Given the description of an element on the screen output the (x, y) to click on. 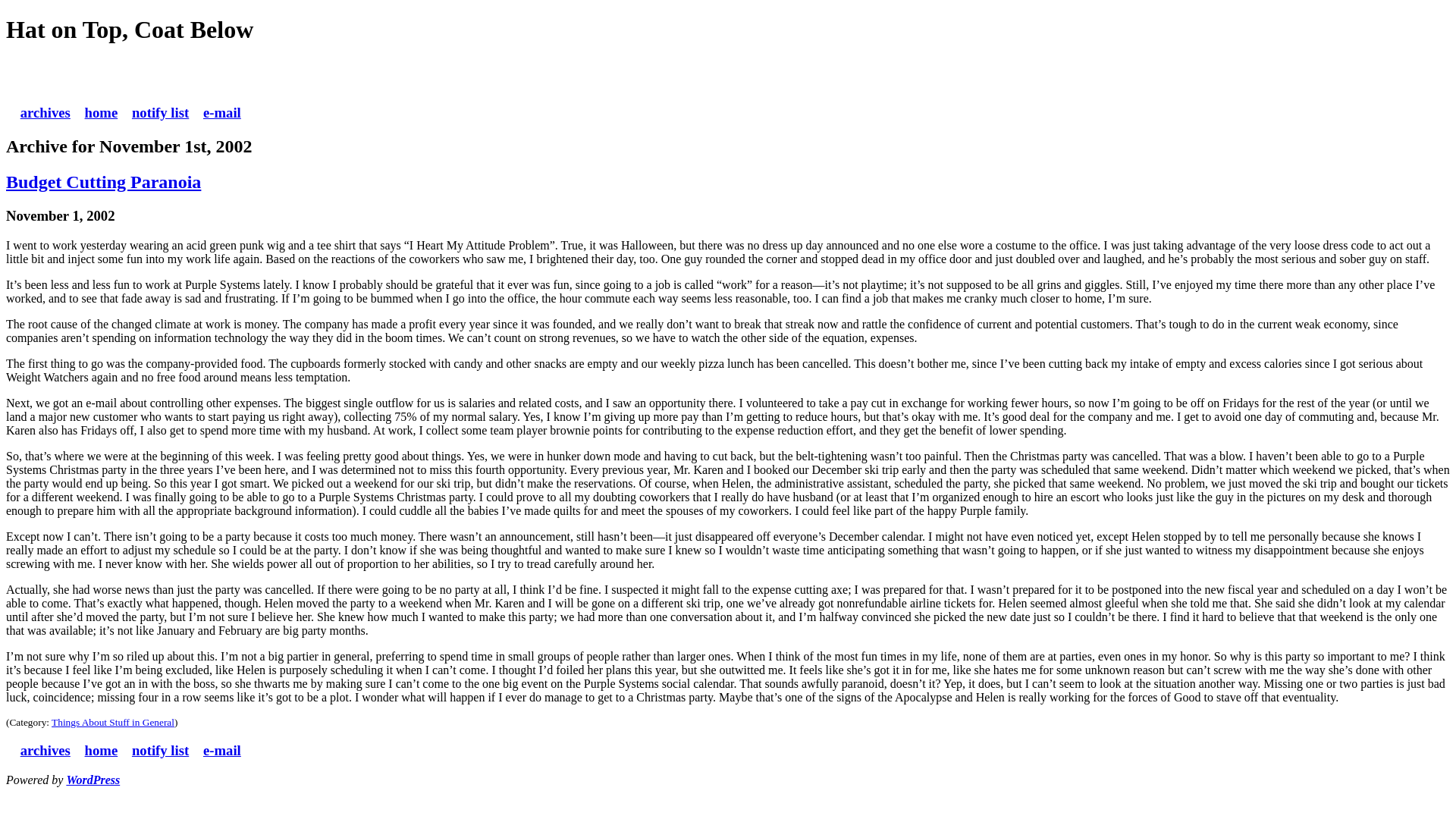
Things About Stuff in General (112, 722)
archives (44, 112)
e-mail (222, 112)
home (100, 112)
notify list (160, 750)
archives (44, 750)
Budget Cutting Paranoia (102, 181)
e-mail (222, 750)
notify list (160, 112)
home (100, 750)
